Given the description of an element on the screen output the (x, y) to click on. 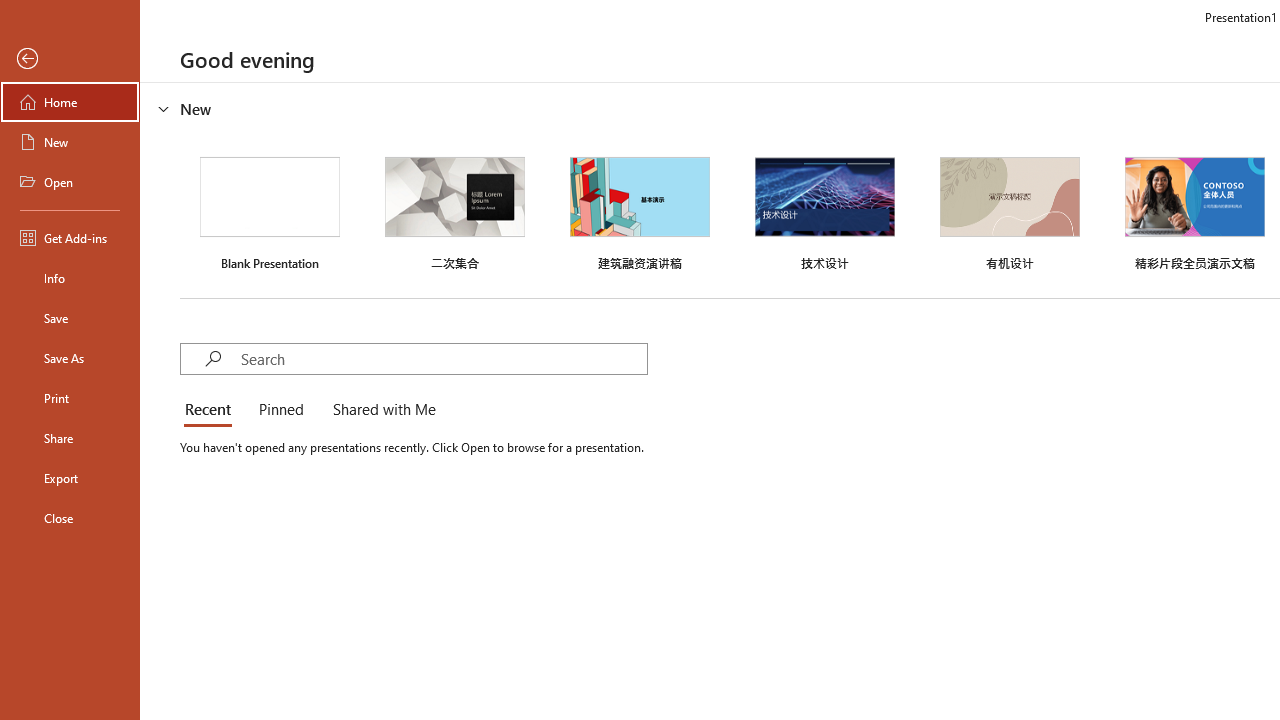
Recent (212, 410)
New (69, 141)
Get Add-ins (69, 237)
Back (69, 59)
